Given the description of an element on the screen output the (x, y) to click on. 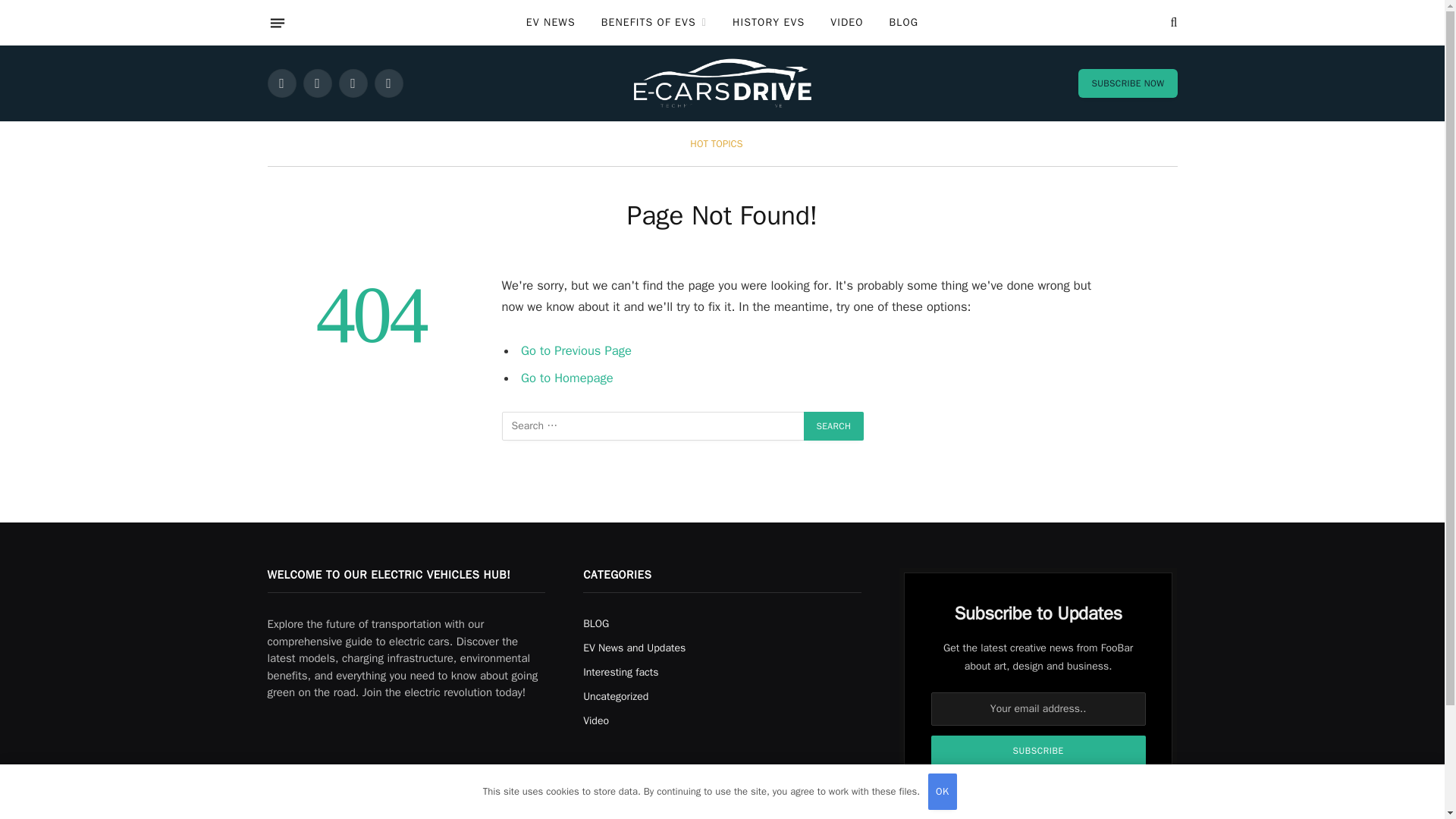
Search (833, 425)
Go to Previous Page (576, 350)
EV NEWS (550, 22)
Instagram (351, 82)
VIDEO (846, 22)
HISTORY EVS (767, 22)
Facebook (280, 82)
SUBSCRIBE NOW (1127, 82)
BLOG (903, 22)
Search (833, 425)
Subscribe (1038, 750)
Pinterest (388, 82)
Search (1172, 22)
Ecars Drive (721, 83)
